Given the description of an element on the screen output the (x, y) to click on. 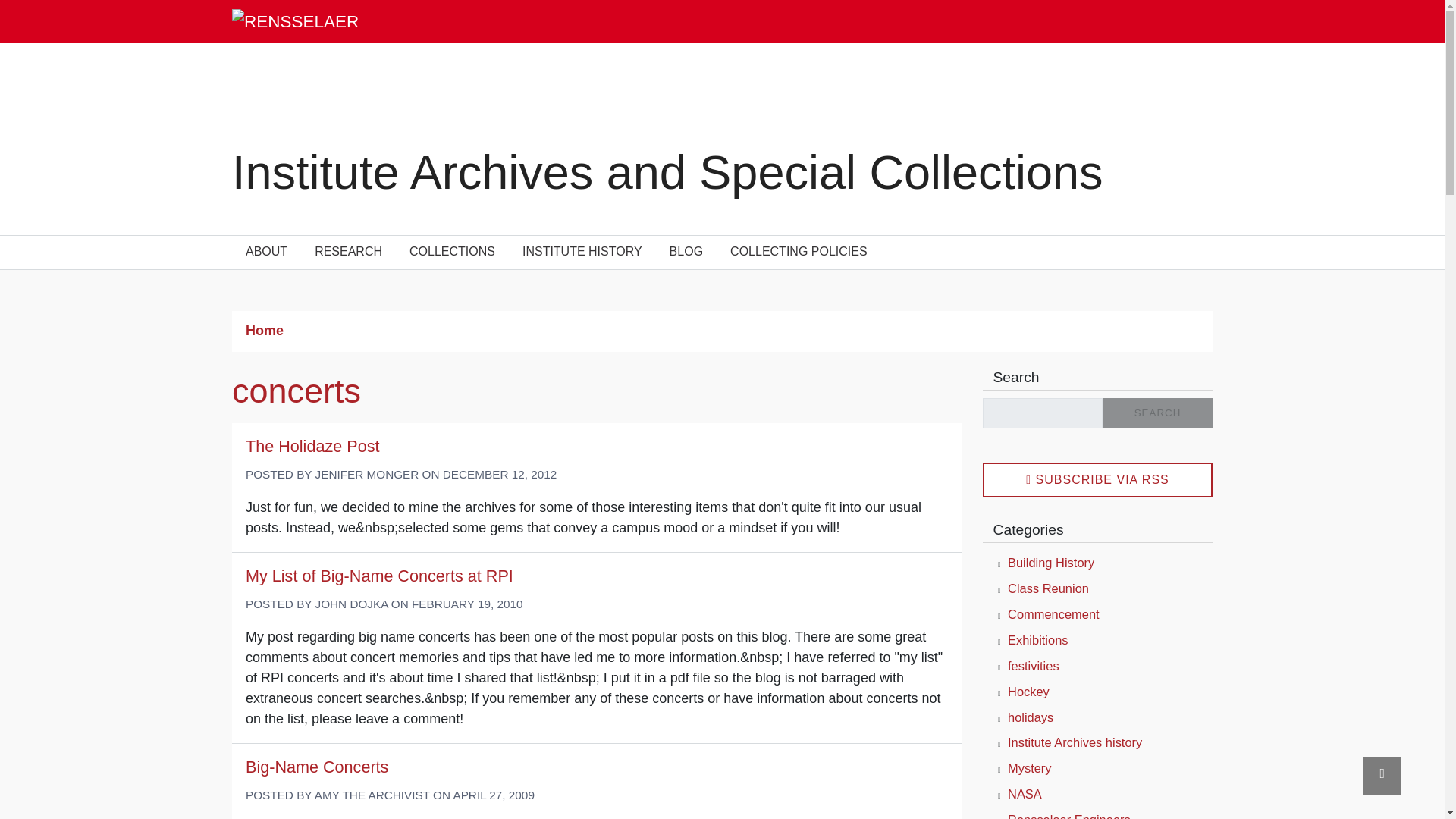
Institute Archives and Special Collections (667, 172)
holidays (1029, 716)
RESEARCH (348, 252)
Building History (1050, 562)
festivities (1033, 665)
Home (667, 172)
Commencement (1053, 613)
Hockey (1028, 691)
Institute Archives history (1074, 742)
NASA (1024, 793)
ABOUT (266, 252)
Exhibitions (1037, 640)
Search (1157, 413)
INSTITUTE HISTORY (582, 252)
Rensselaer Engineers (1069, 816)
